Given the description of an element on the screen output the (x, y) to click on. 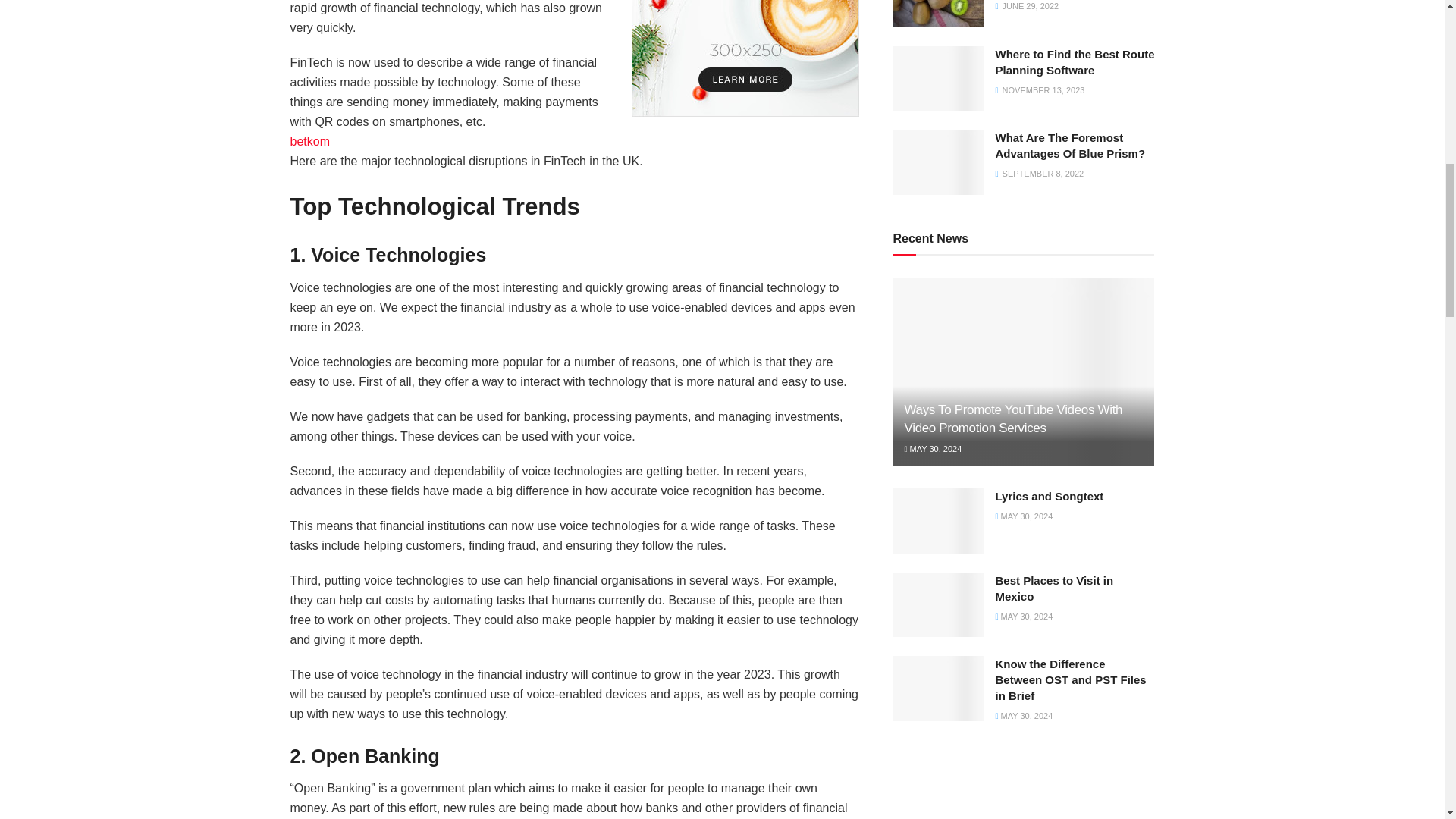
betkom (309, 141)
